Given the description of an element on the screen output the (x, y) to click on. 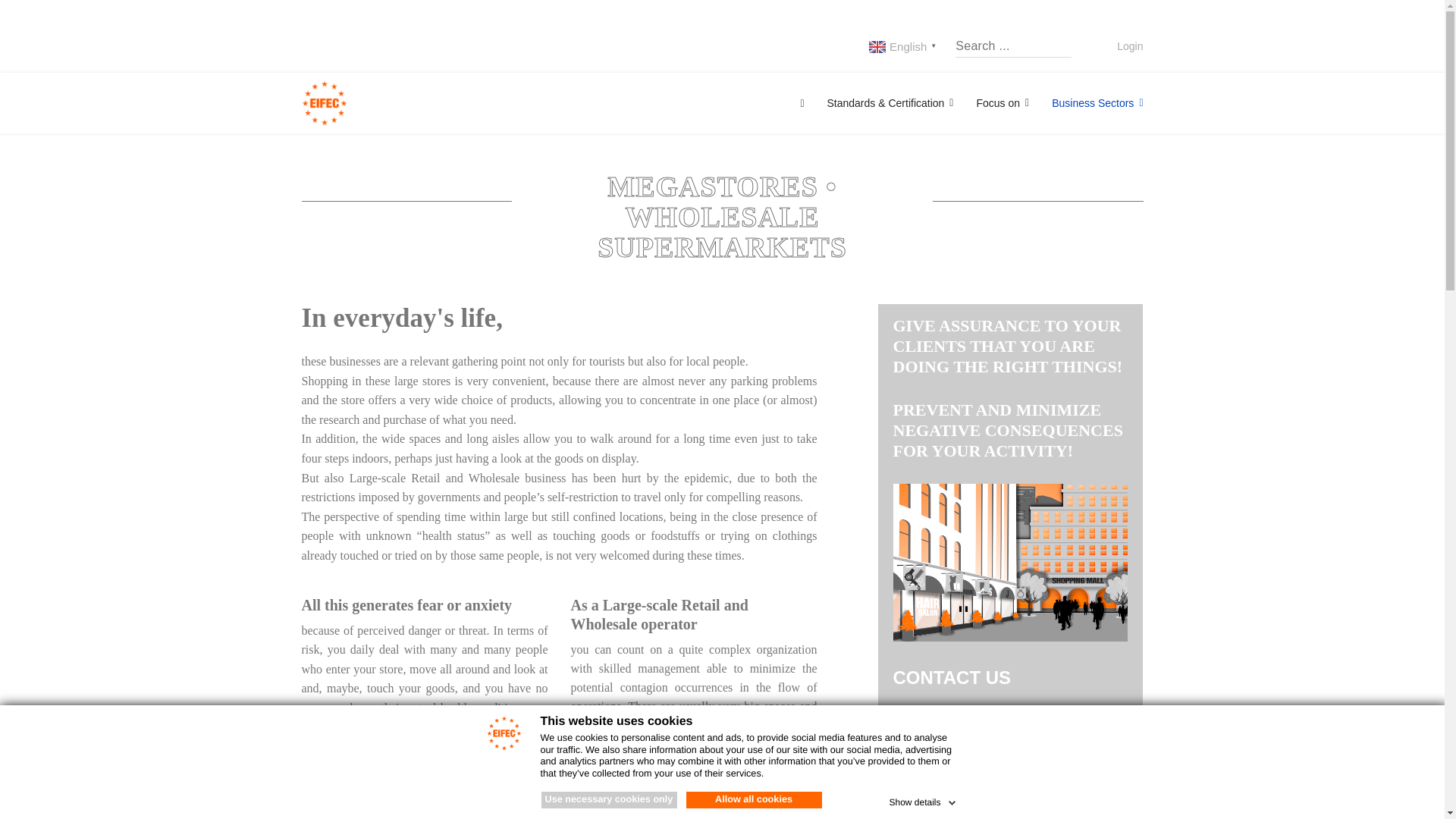
Show details (923, 799)
Allow all cookies (753, 799)
Use necessary cookies only (609, 799)
